Given the description of an element on the screen output the (x, y) to click on. 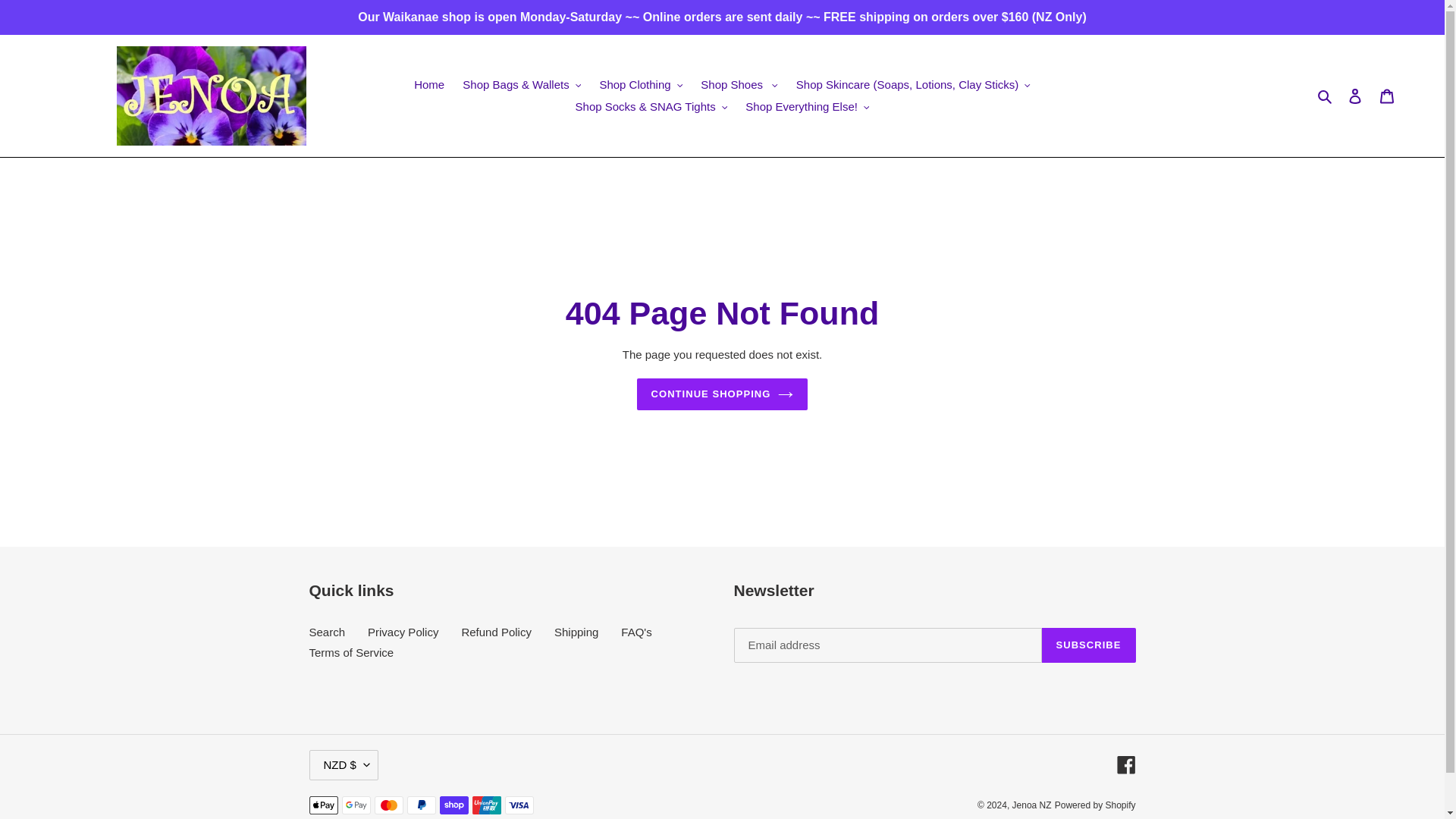
Home (428, 85)
Shop Everything Else! (807, 106)
Shop Shoes (738, 85)
Log in (1355, 95)
Search (1326, 95)
Shop Clothing (640, 85)
